Given the description of an element on the screen output the (x, y) to click on. 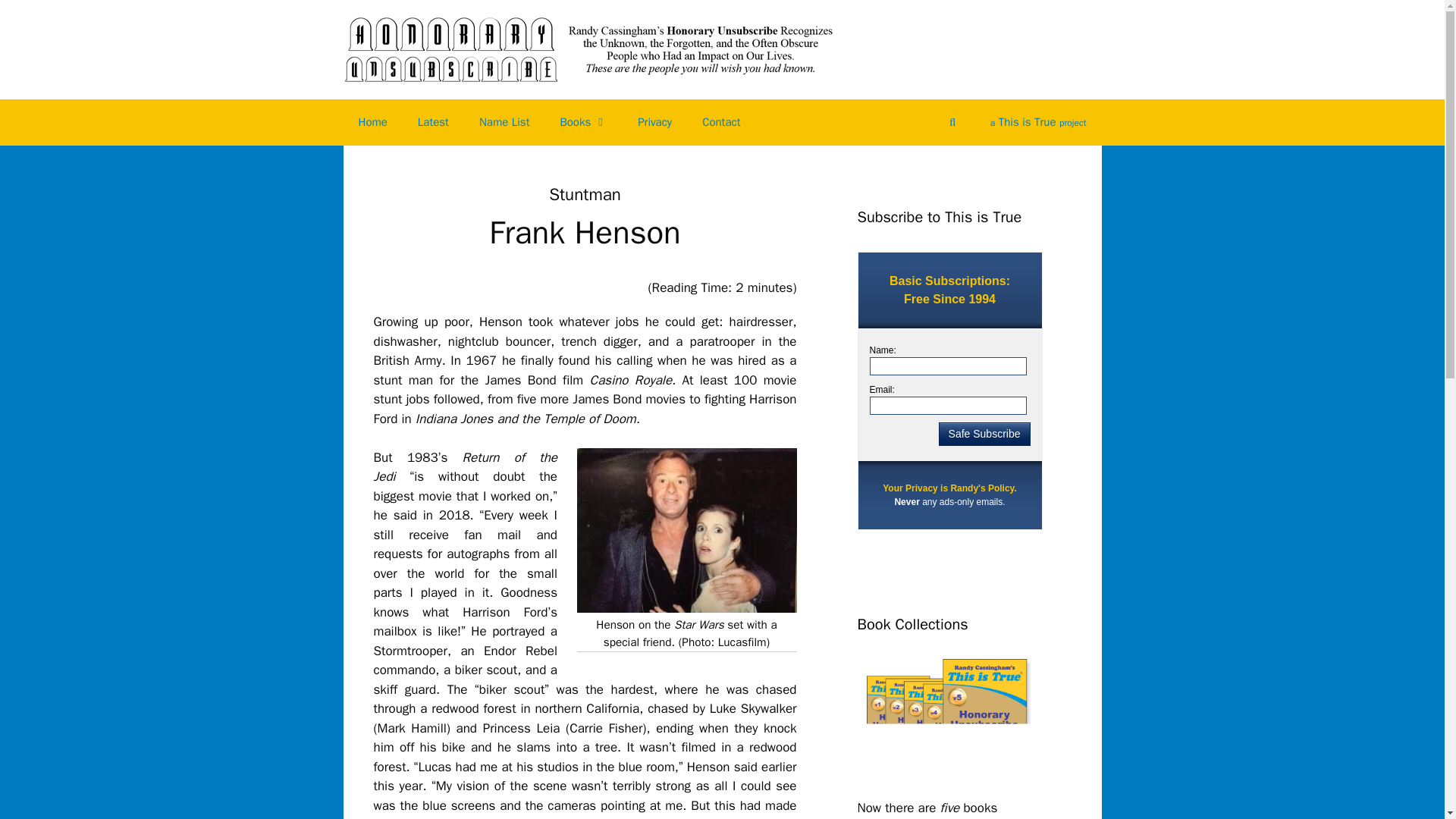
Contact (721, 121)
Home (371, 121)
a This is True project (1038, 122)
Books (583, 121)
Privacy (655, 121)
Safe Subscribe (984, 433)
Name List (504, 121)
Safe Subscribe (984, 433)
Latest (433, 121)
Your Privacy is Randy's Policy. (949, 488)
